Given the description of an element on the screen output the (x, y) to click on. 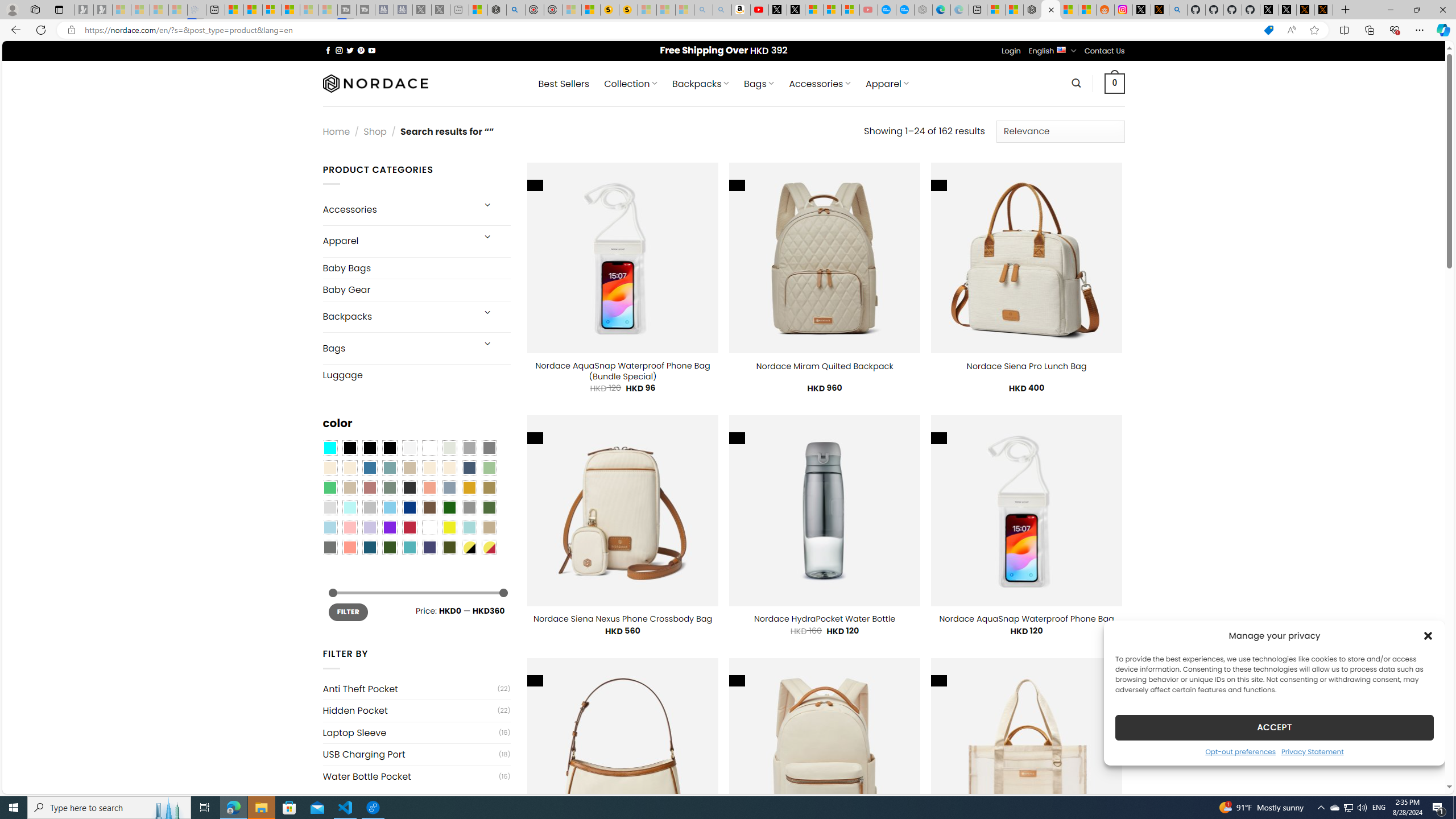
Close (1442, 9)
App bar (728, 29)
Beige-Brown (349, 467)
Shop order (1060, 131)
Nordace HydraPocket Water Bottle (824, 618)
Yellow (449, 527)
X - Sleeping (440, 9)
Personal Profile (12, 9)
